Given the description of an element on the screen output the (x, y) to click on. 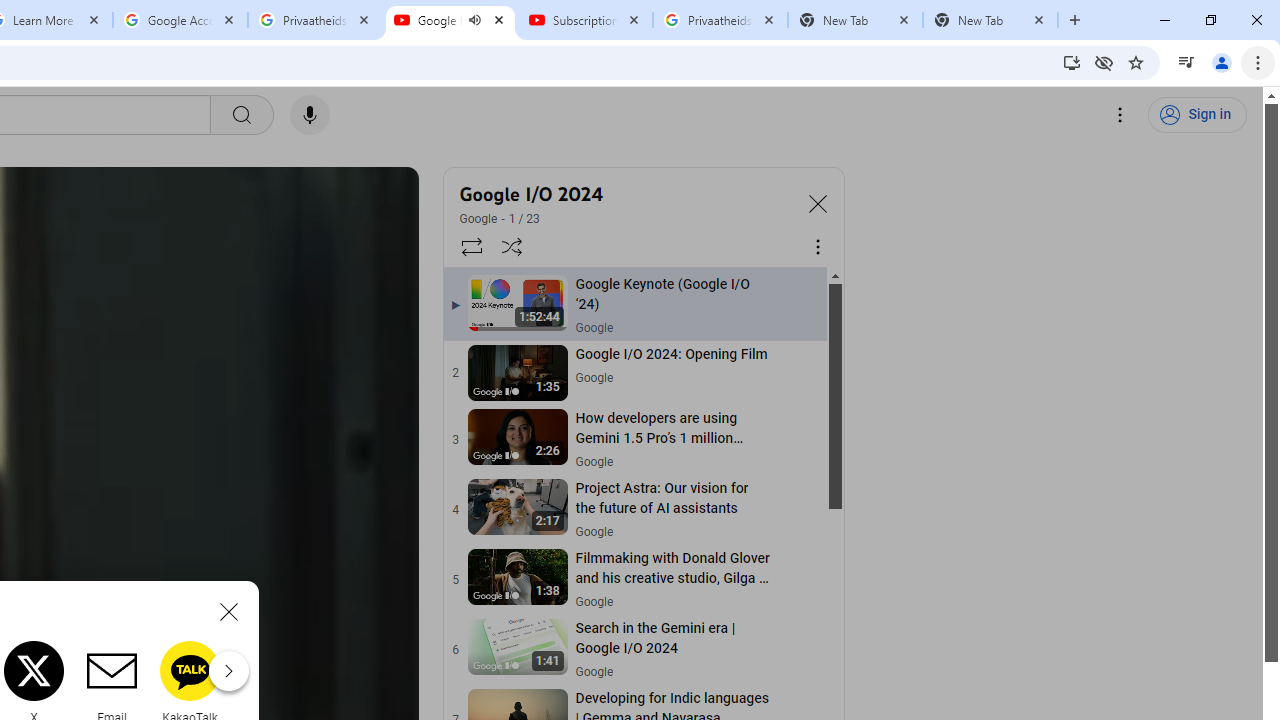
Subscriptions - YouTube (585, 20)
Search with your voice (309, 115)
Cancel (228, 611)
